Given the description of an element on the screen output the (x, y) to click on. 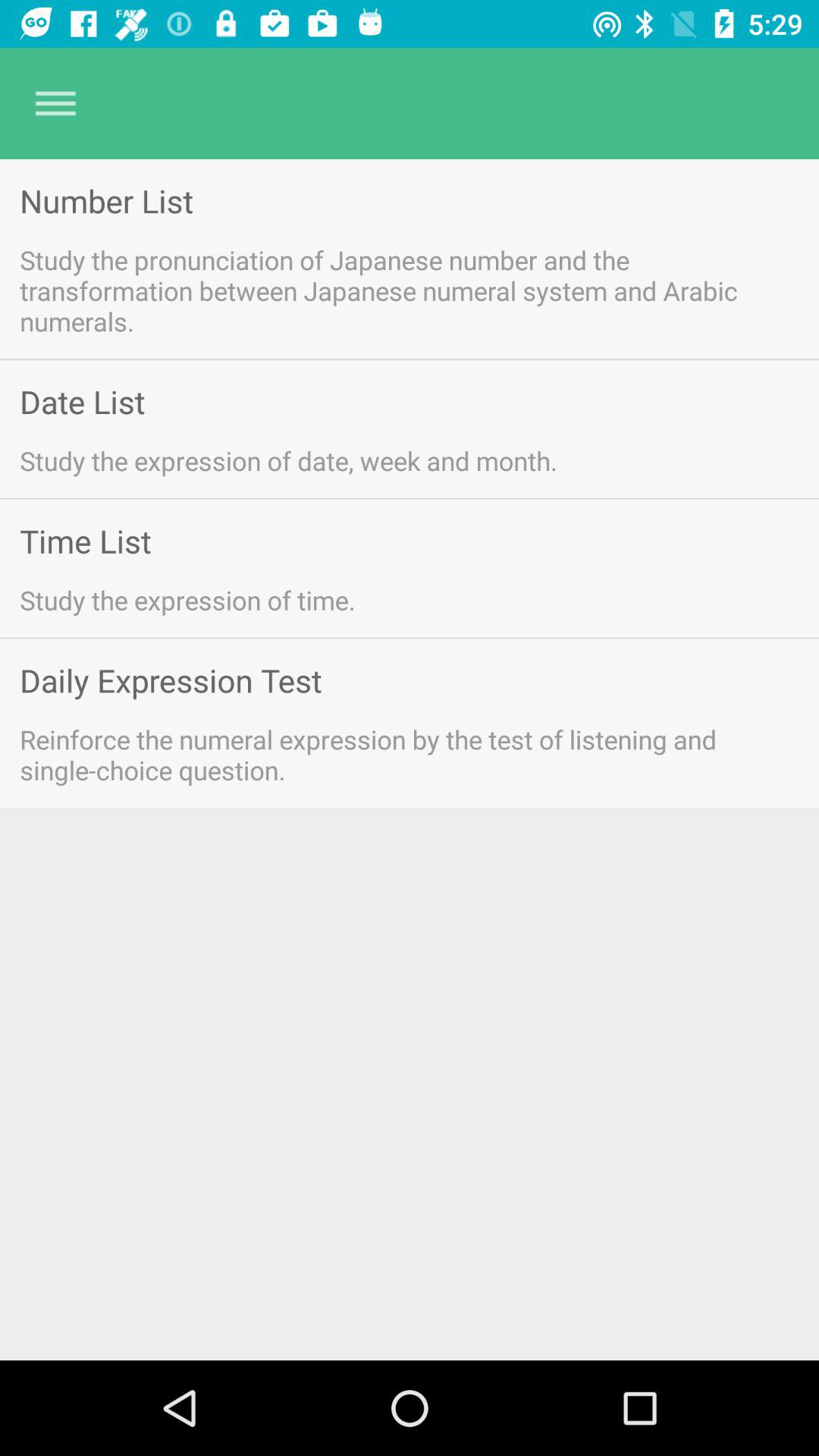
jump to the date list icon (82, 401)
